Given the description of an element on the screen output the (x, y) to click on. 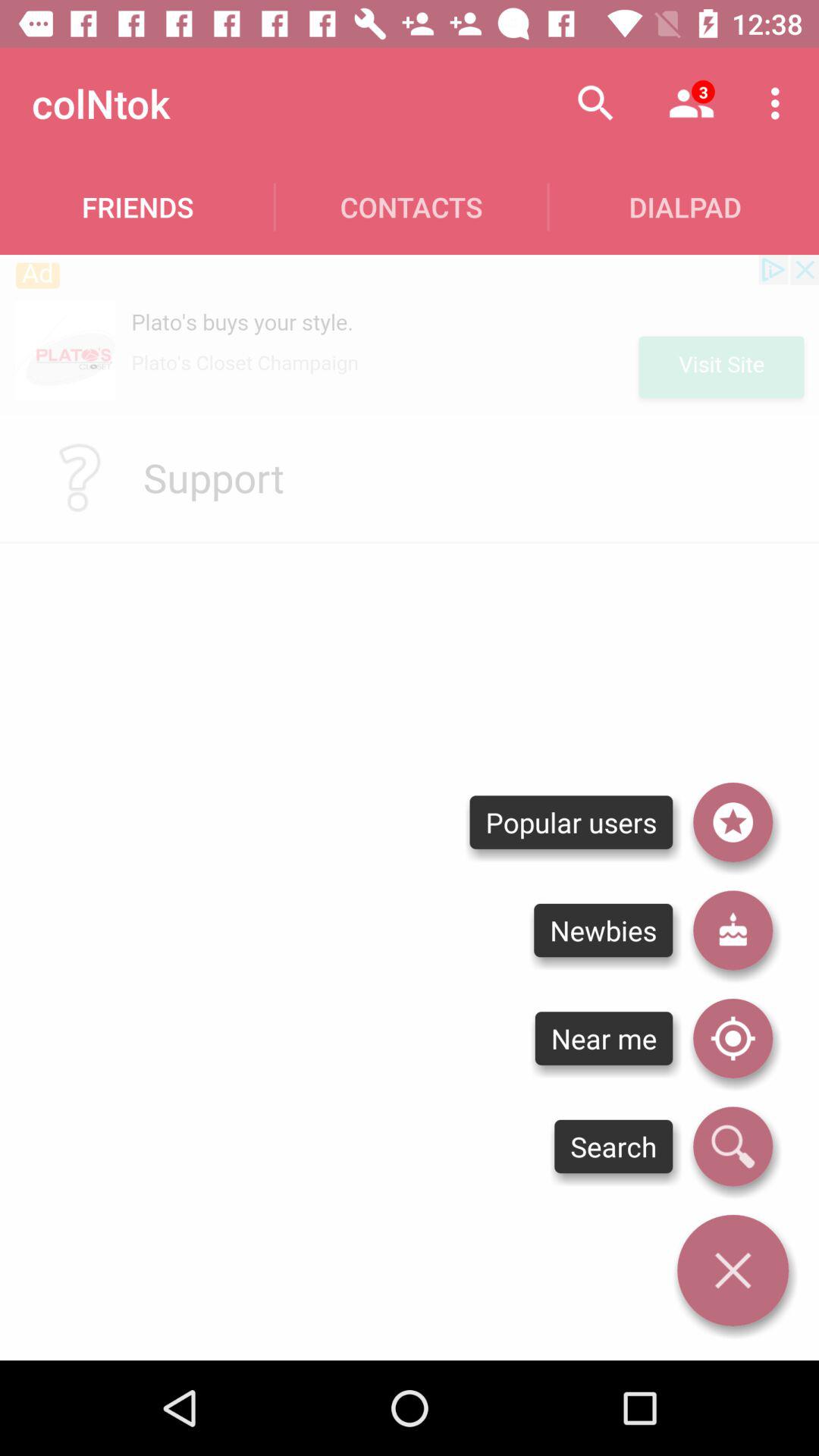
use location (733, 1038)
